Given the description of an element on the screen output the (x, y) to click on. 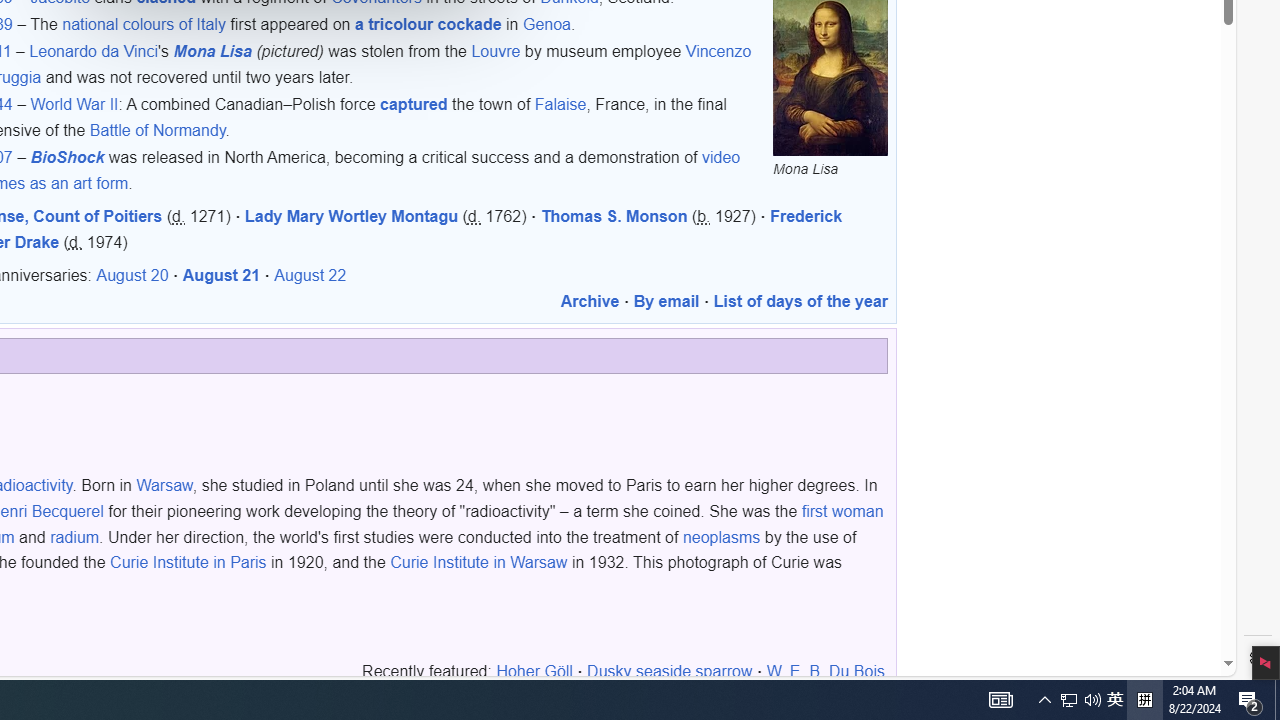
List of days of the year (800, 302)
Archive (589, 302)
August 21 (221, 276)
Curie Institute in Paris (188, 562)
national colours of Italy (143, 24)
Thomas S. Monson (614, 217)
Lady Mary Wortley Montagu (351, 217)
August 20 (132, 276)
radium (74, 536)
Dusky seaside sparrow (669, 672)
Curie Institute in Warsaw (479, 562)
BioShock (66, 158)
